Given the description of an element on the screen output the (x, y) to click on. 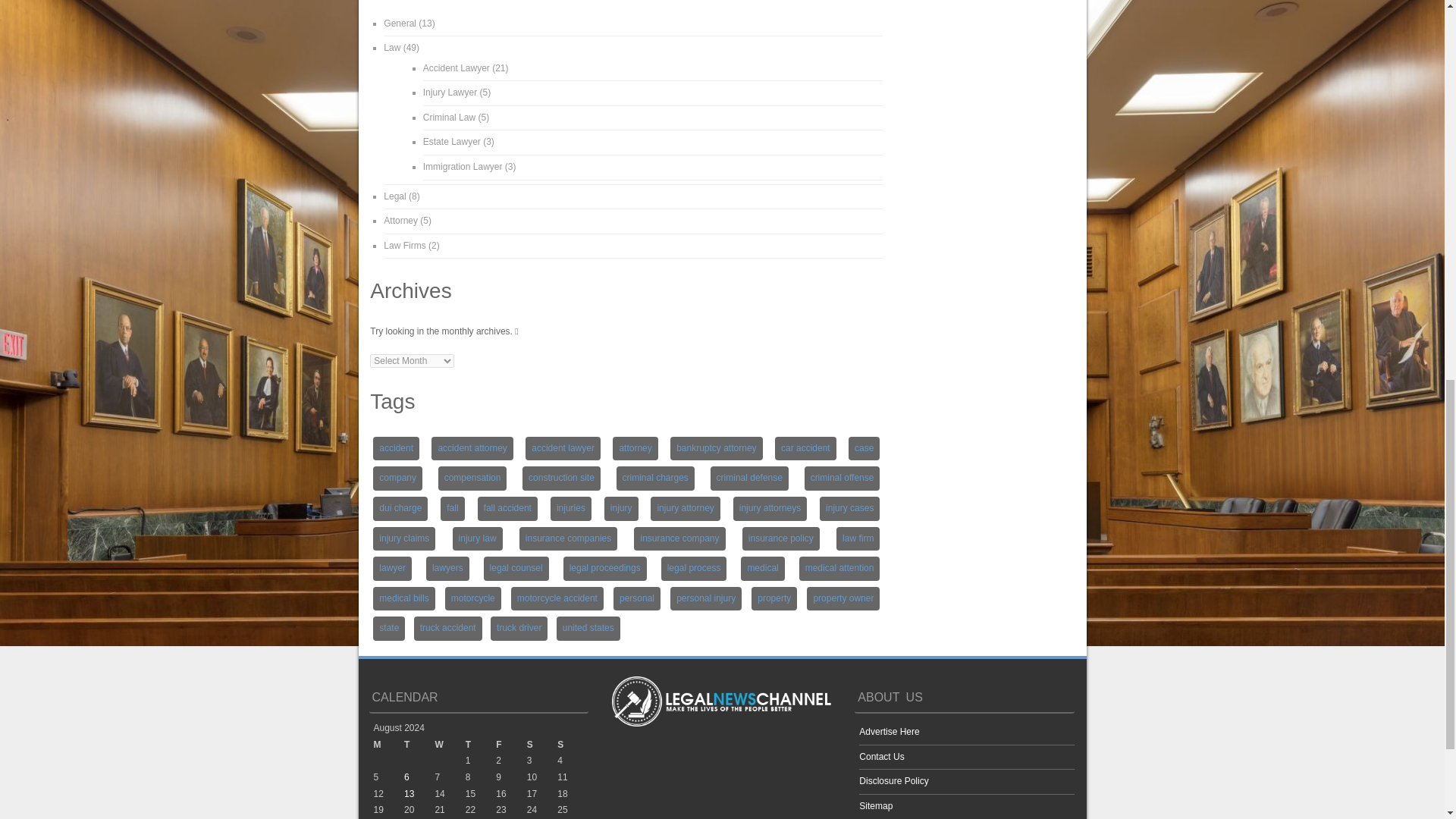
Saturday (542, 745)
Tuesday (418, 745)
Monday (387, 745)
Friday (510, 745)
Sunday (572, 745)
Wednesday (448, 745)
Thursday (480, 745)
